Given the description of an element on the screen output the (x, y) to click on. 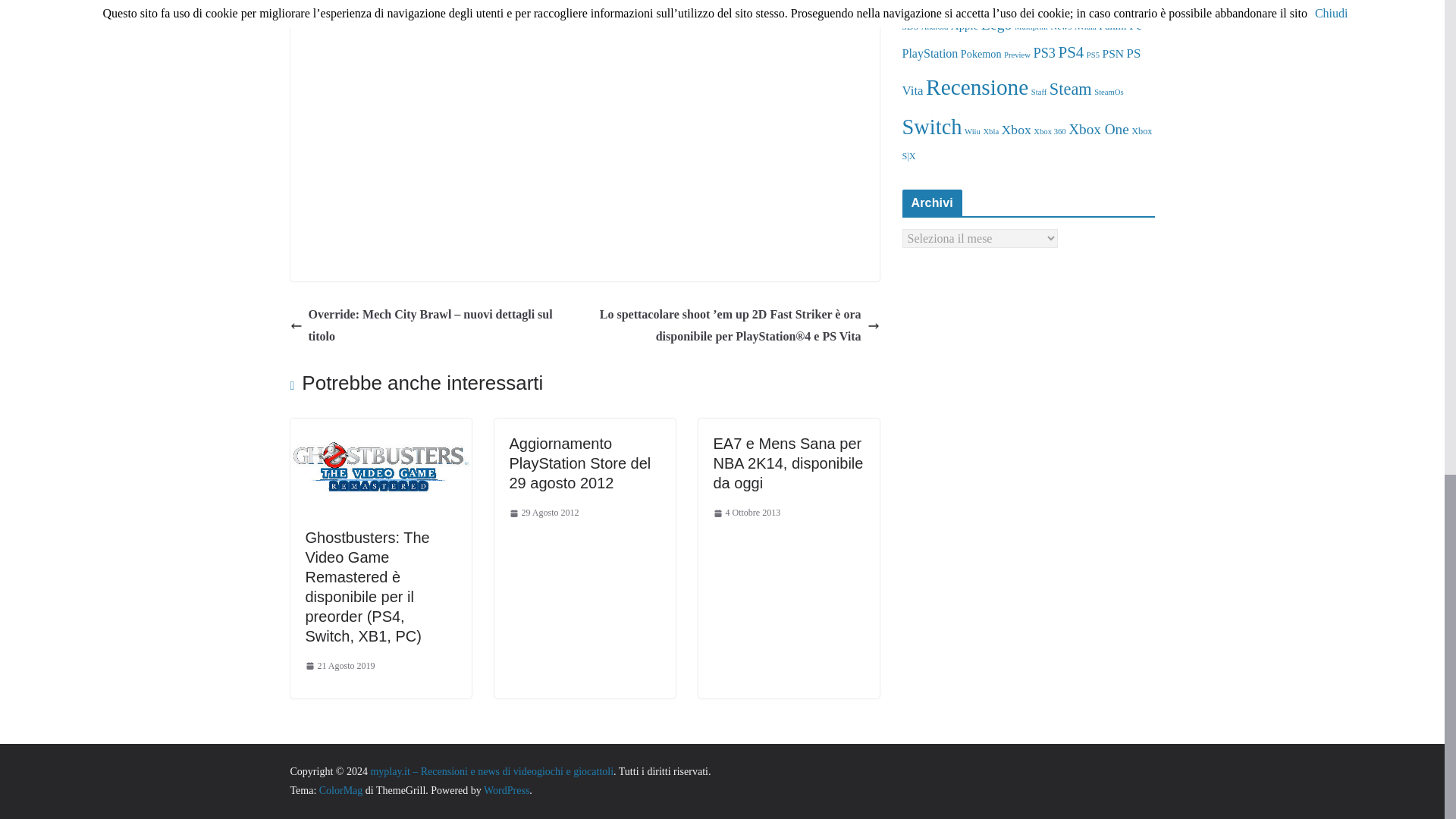
EA7 e Mens Sana per NBA 2K14, disponibile da oggi (788, 462)
17:33 (544, 513)
Aggiornamento PlayStation Store del 29 agosto 2012 (579, 462)
Aggiornamento PlayStation Store del 29 agosto 2012 (579, 462)
4 Ottobre 2013 (746, 513)
13:10 (746, 513)
EA7 e Mens Sana per NBA 2K14, disponibile da oggi (788, 462)
29 Agosto 2012 (544, 513)
21 Agosto 2019 (339, 666)
17:14 (339, 666)
